Given the description of an element on the screen output the (x, y) to click on. 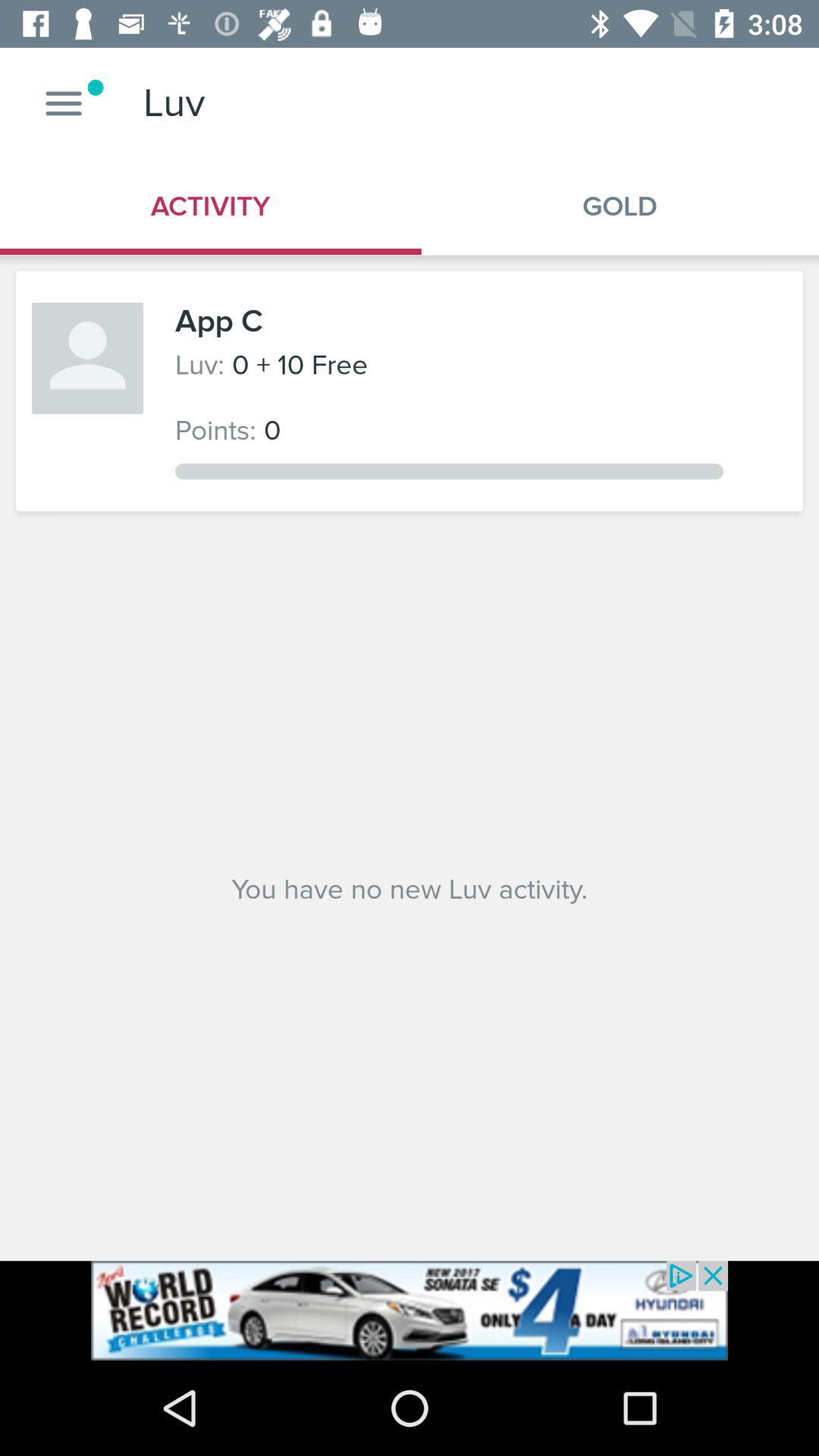
toggle the advertisement option (409, 1310)
